Given the description of an element on the screen output the (x, y) to click on. 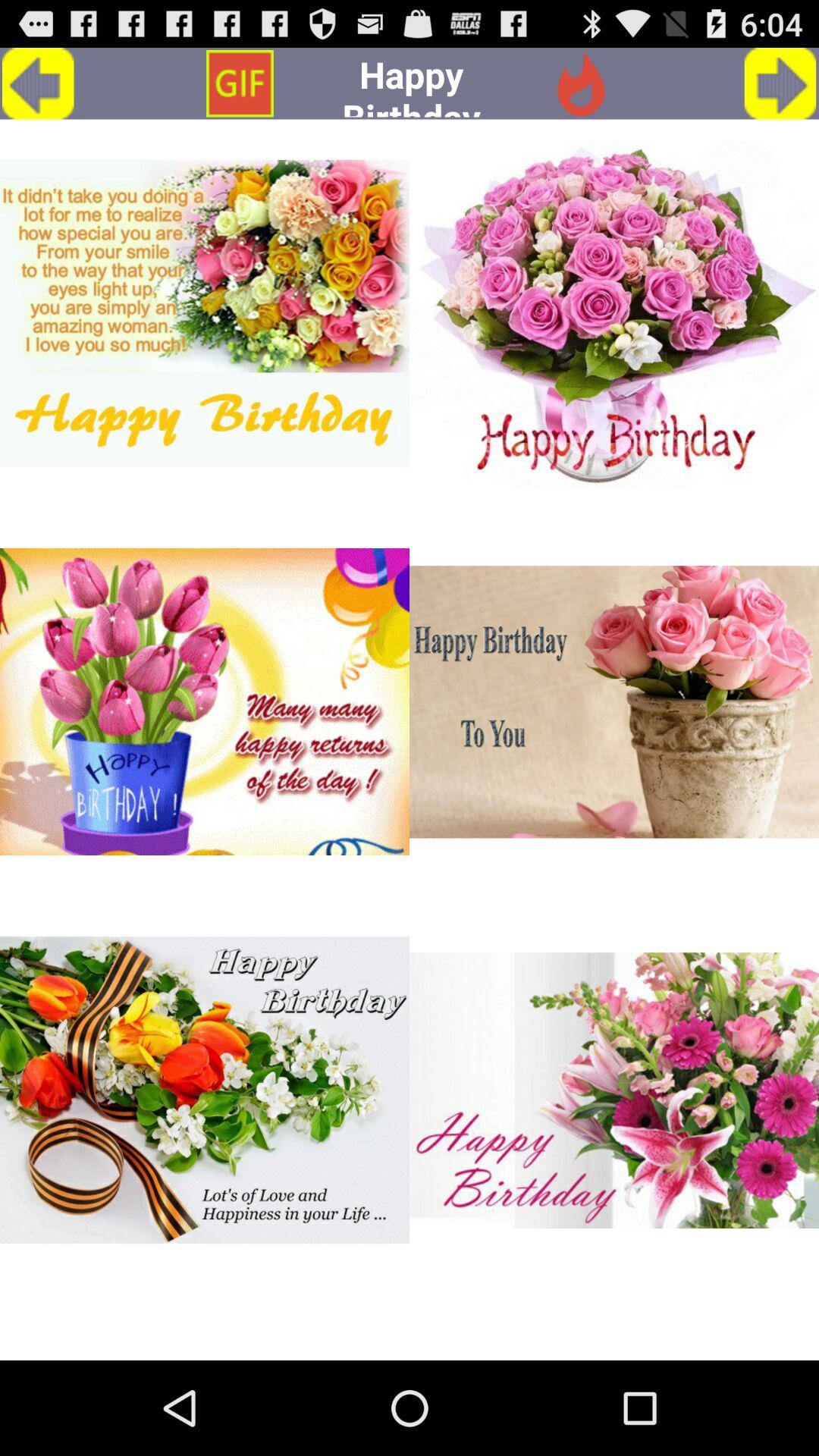
insert sticker (204, 313)
